Given the description of an element on the screen output the (x, y) to click on. 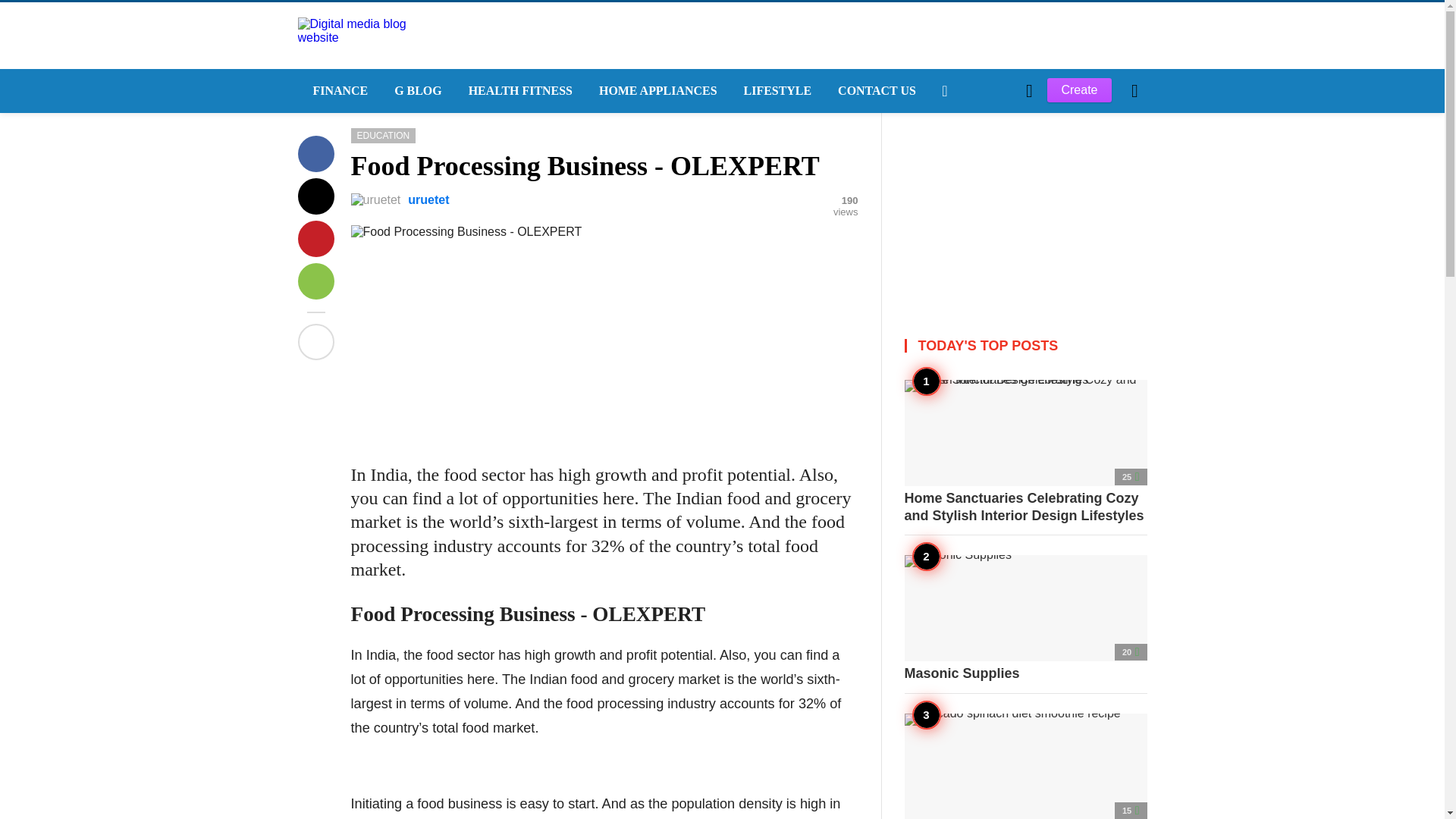
FINANCE (337, 90)
CONTACT US (874, 90)
HOME APPLIANCES (656, 90)
Masonic Supplies (1025, 618)
HEALTH FITNESS (517, 90)
Avocado spinach diet smoothie recipe (1025, 765)
sign up (964, 347)
Log in (962, 347)
LIFESTYLE (776, 90)
